Given the description of an element on the screen output the (x, y) to click on. 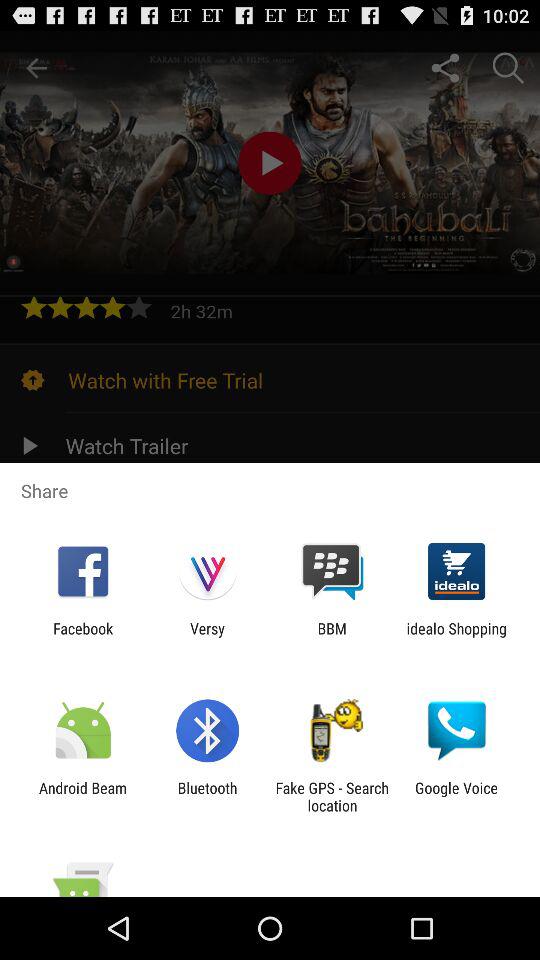
tap the app next to versy icon (331, 637)
